Given the description of an element on the screen output the (x, y) to click on. 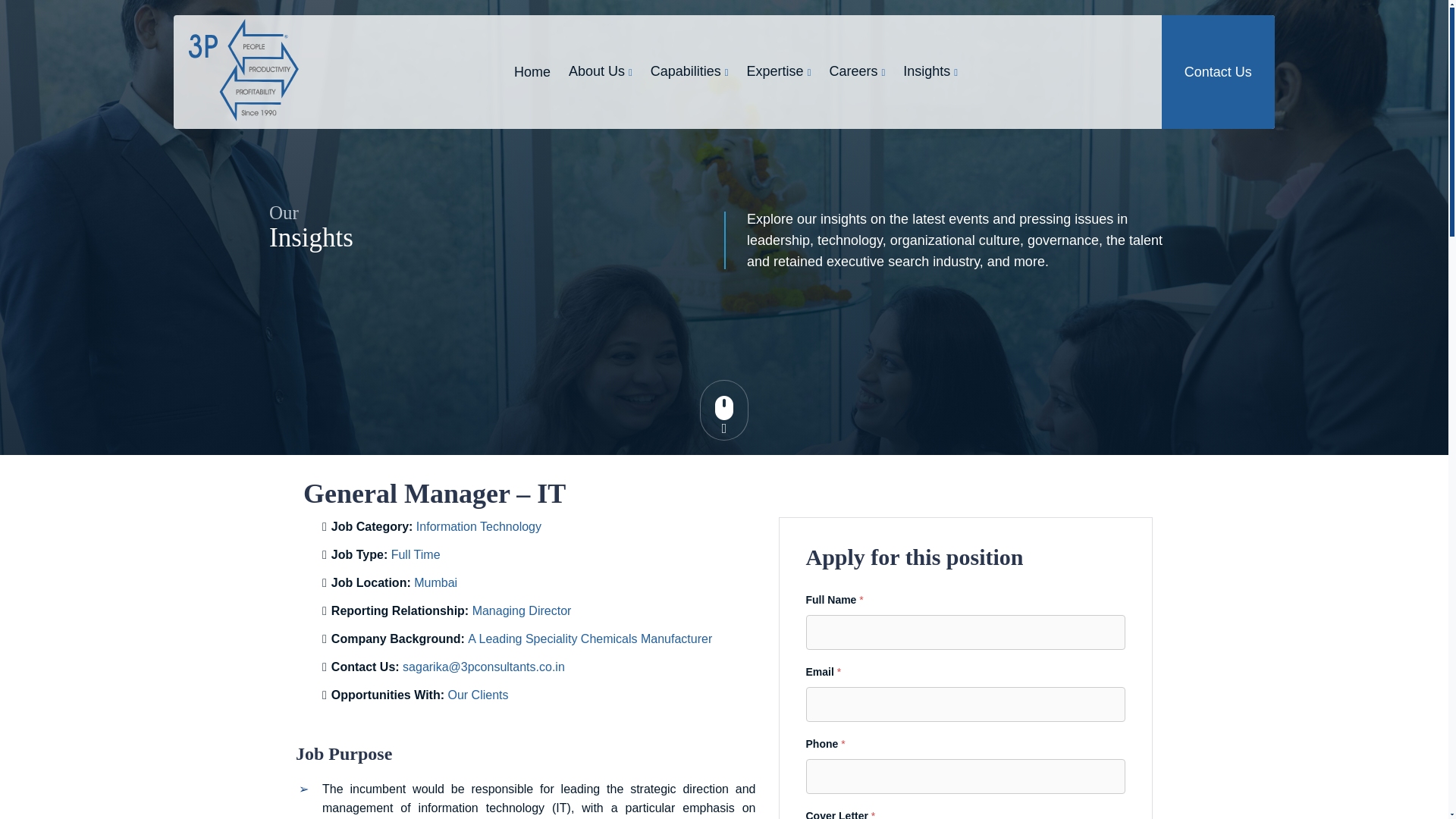
Managing Director (521, 610)
Capabilities (689, 71)
A Leading Speciality Chemicals Manufacturer (589, 638)
Expertise (778, 71)
Contact Us (1218, 71)
Insights (930, 71)
3P Consultants (243, 69)
Mumbai (435, 582)
Our Clients (477, 694)
Full Time (416, 554)
Information Technology (478, 526)
Careers (856, 71)
About Us (600, 71)
